Given the description of an element on the screen output the (x, y) to click on. 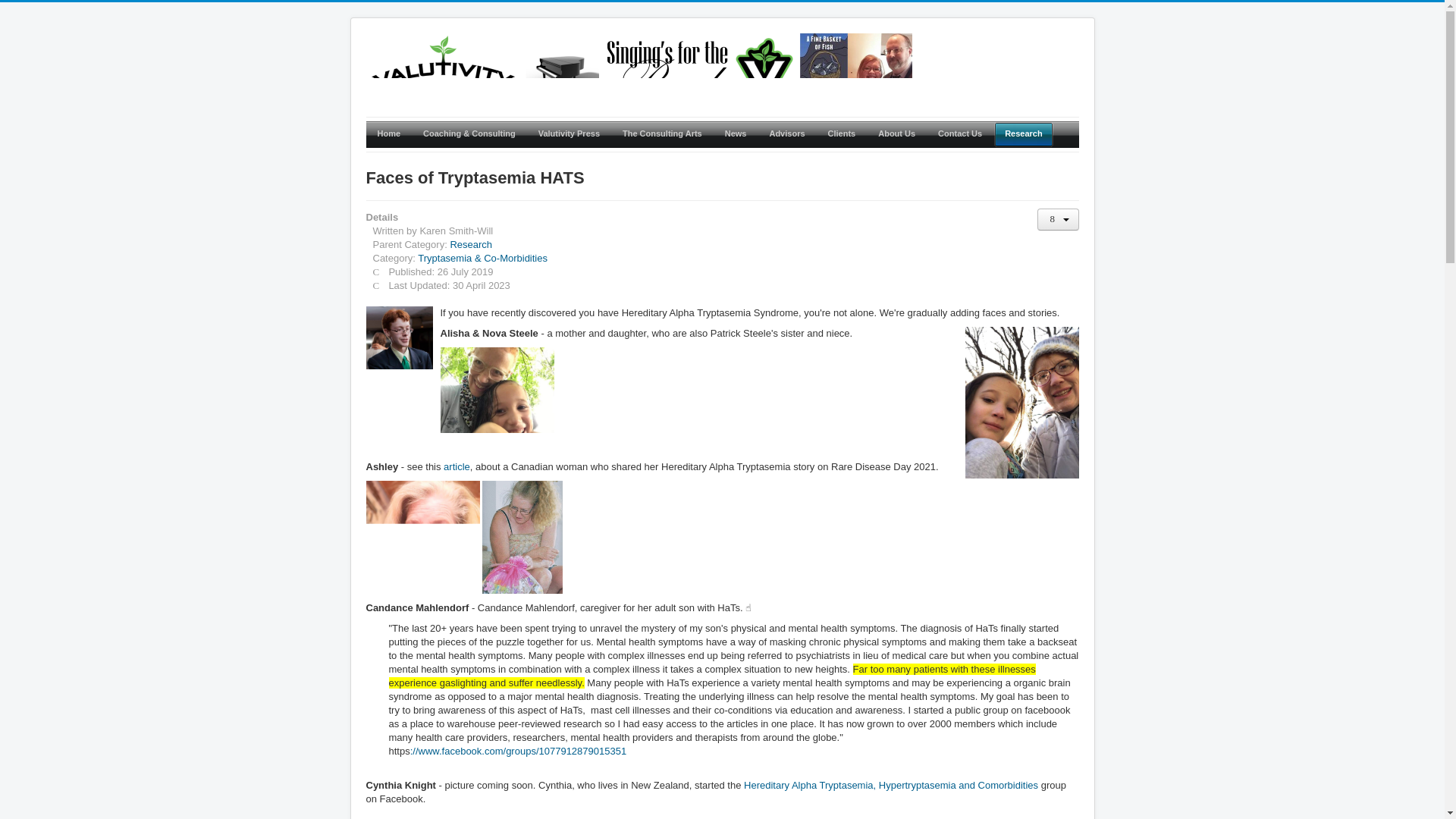
Research (470, 244)
About Us (896, 134)
Advisors (786, 134)
Contact Us (959, 134)
Clients (841, 134)
Research (1023, 134)
The Consulting Arts (662, 134)
Valutivity Press (569, 134)
News (735, 134)
